Given the description of an element on the screen output the (x, y) to click on. 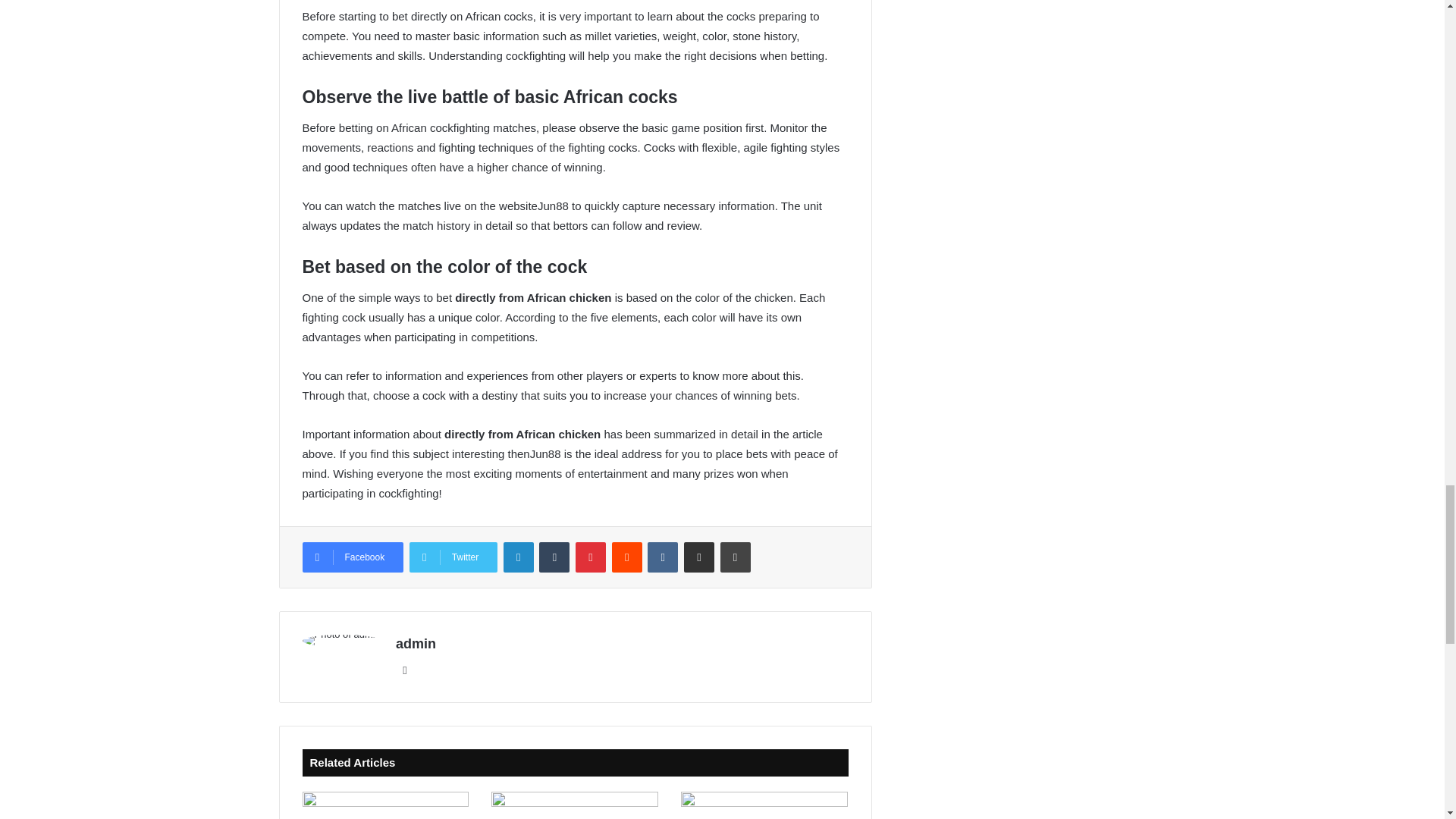
Tumblr (553, 557)
Facebook (352, 557)
LinkedIn (518, 557)
Reddit (626, 557)
Print (735, 557)
Website (404, 669)
Pinterest (590, 557)
Twitter (453, 557)
Share via Email (699, 557)
VKontakte (662, 557)
